Given the description of an element on the screen output the (x, y) to click on. 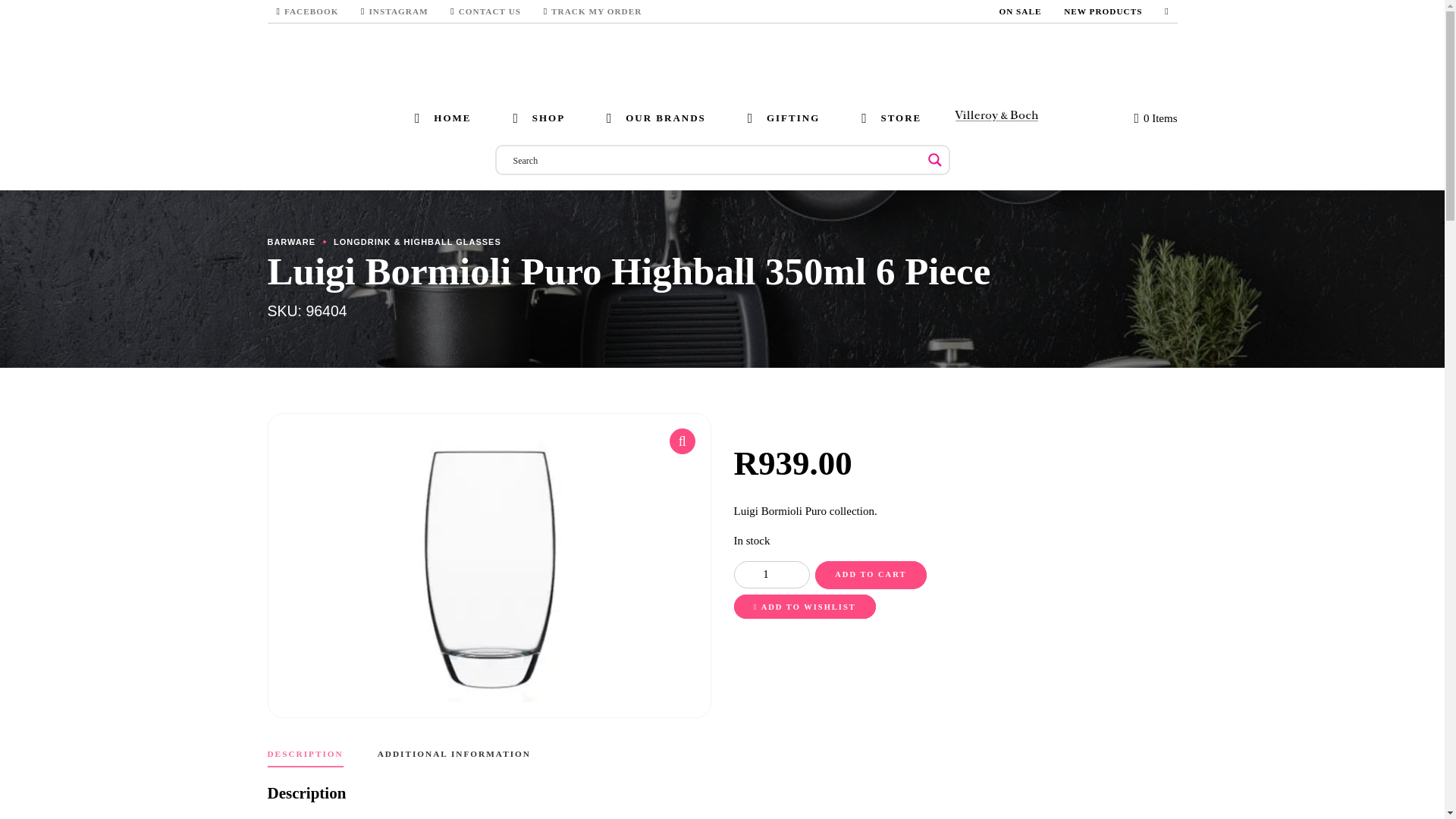
SHOP (533, 118)
Luigi Bormioli Puro Highball 350ml 6 Piece (488, 565)
TRACK MY ORDER (594, 11)
1 (771, 574)
CONTACT US (482, 11)
Qty (771, 574)
View your shopping cart (1155, 118)
HOME (438, 118)
FACEBOOK (304, 11)
ON SALE (1017, 11)
INSTAGRAM (392, 11)
NEW PRODUCTS (1100, 11)
0 Items (1155, 118)
